Given the description of an element on the screen output the (x, y) to click on. 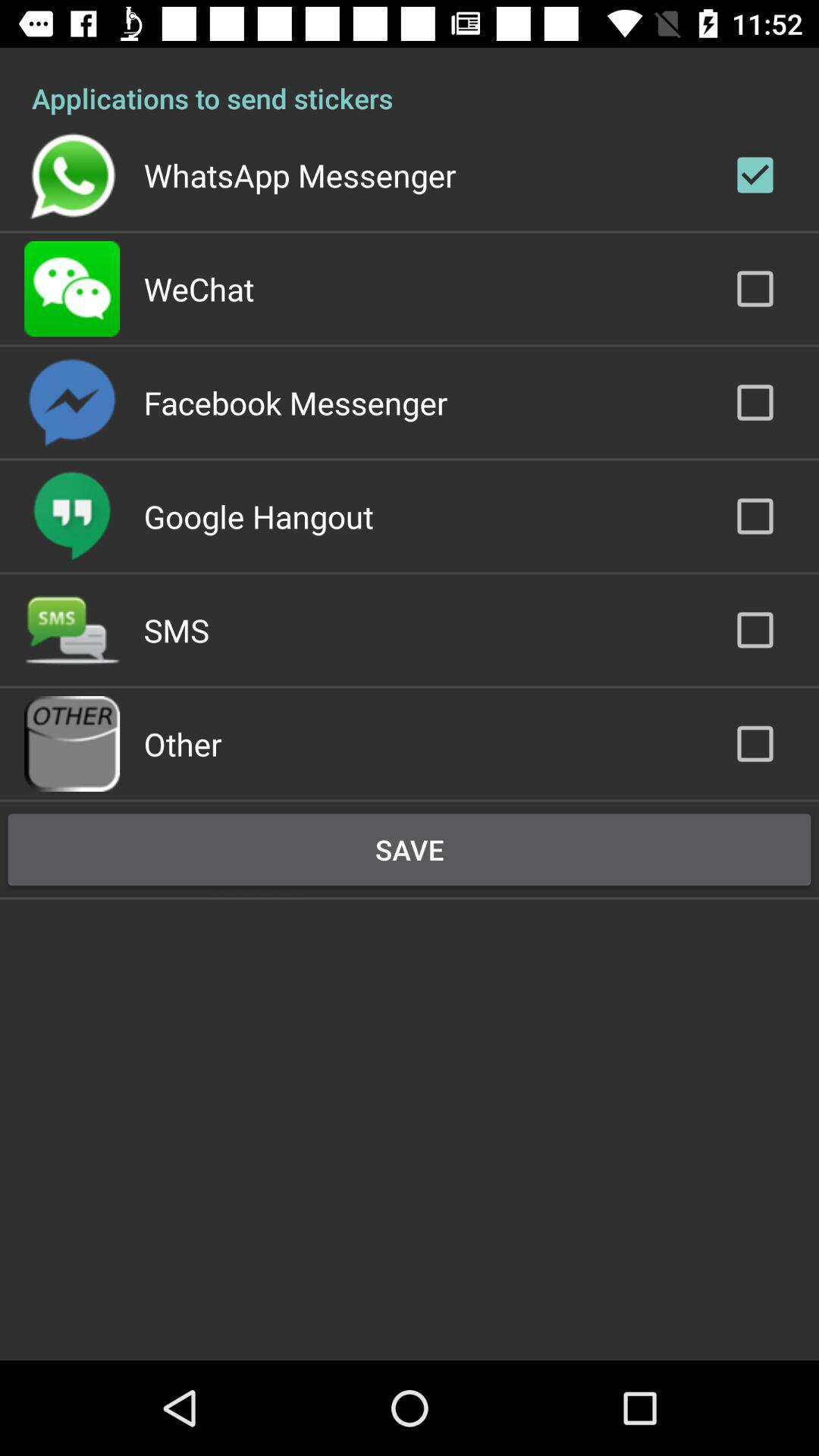
select icon below the applications to send item (299, 174)
